Given the description of an element on the screen output the (x, y) to click on. 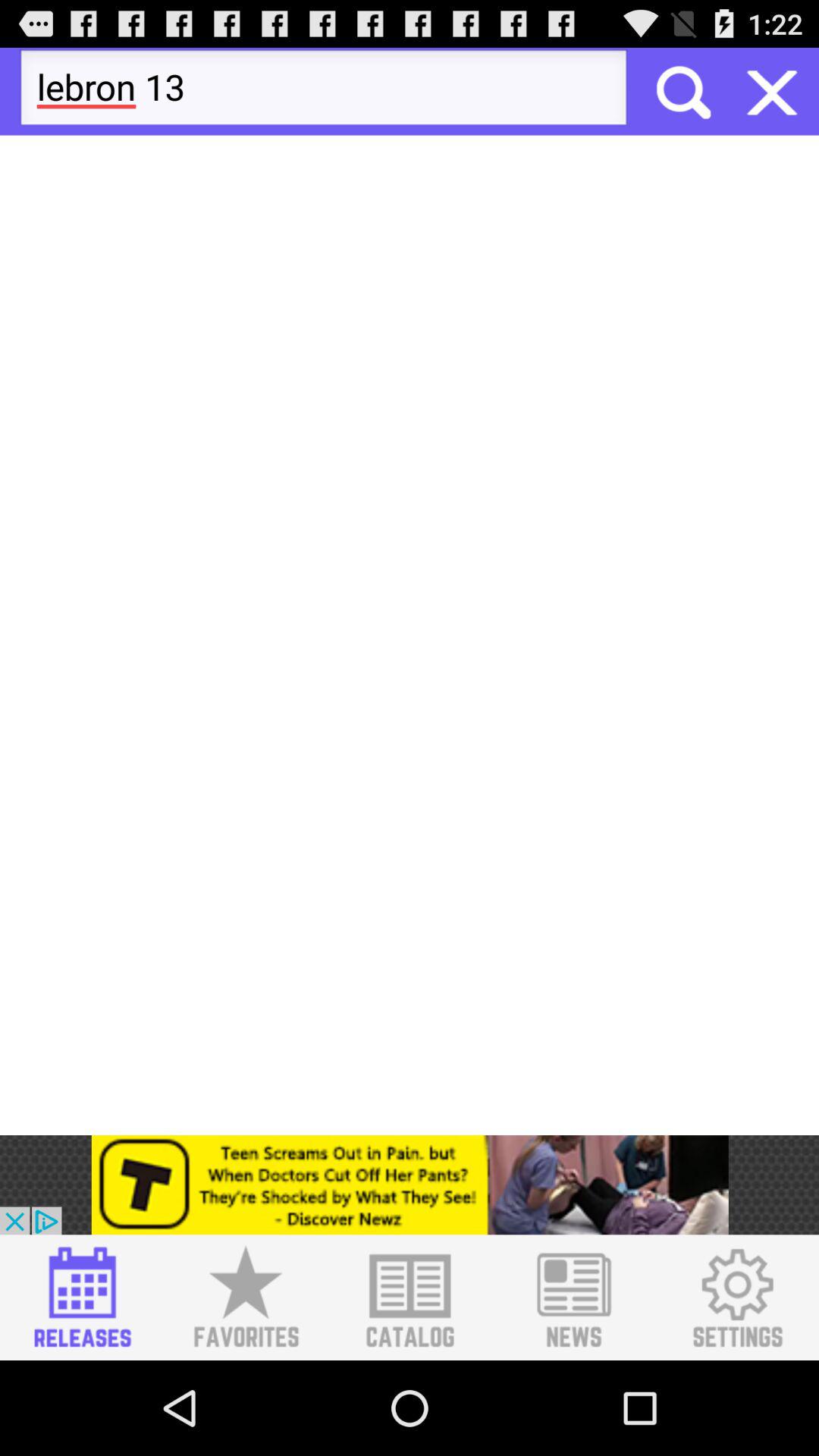
view catalog (409, 1297)
